Given the description of an element on the screen output the (x, y) to click on. 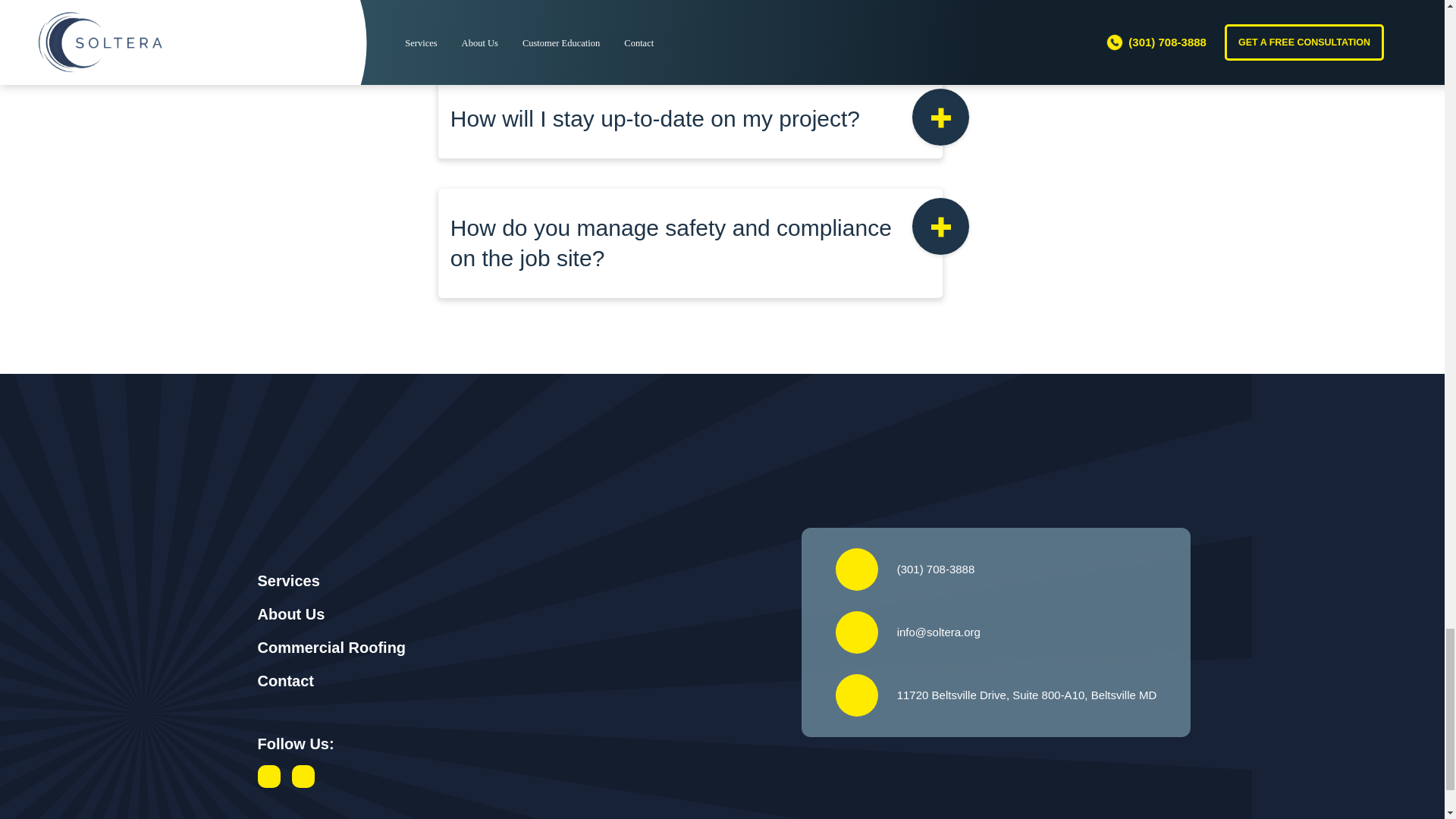
Contact (285, 680)
Services (288, 580)
Commercial Roofing (331, 647)
About Us (290, 614)
